Given the description of an element on the screen output the (x, y) to click on. 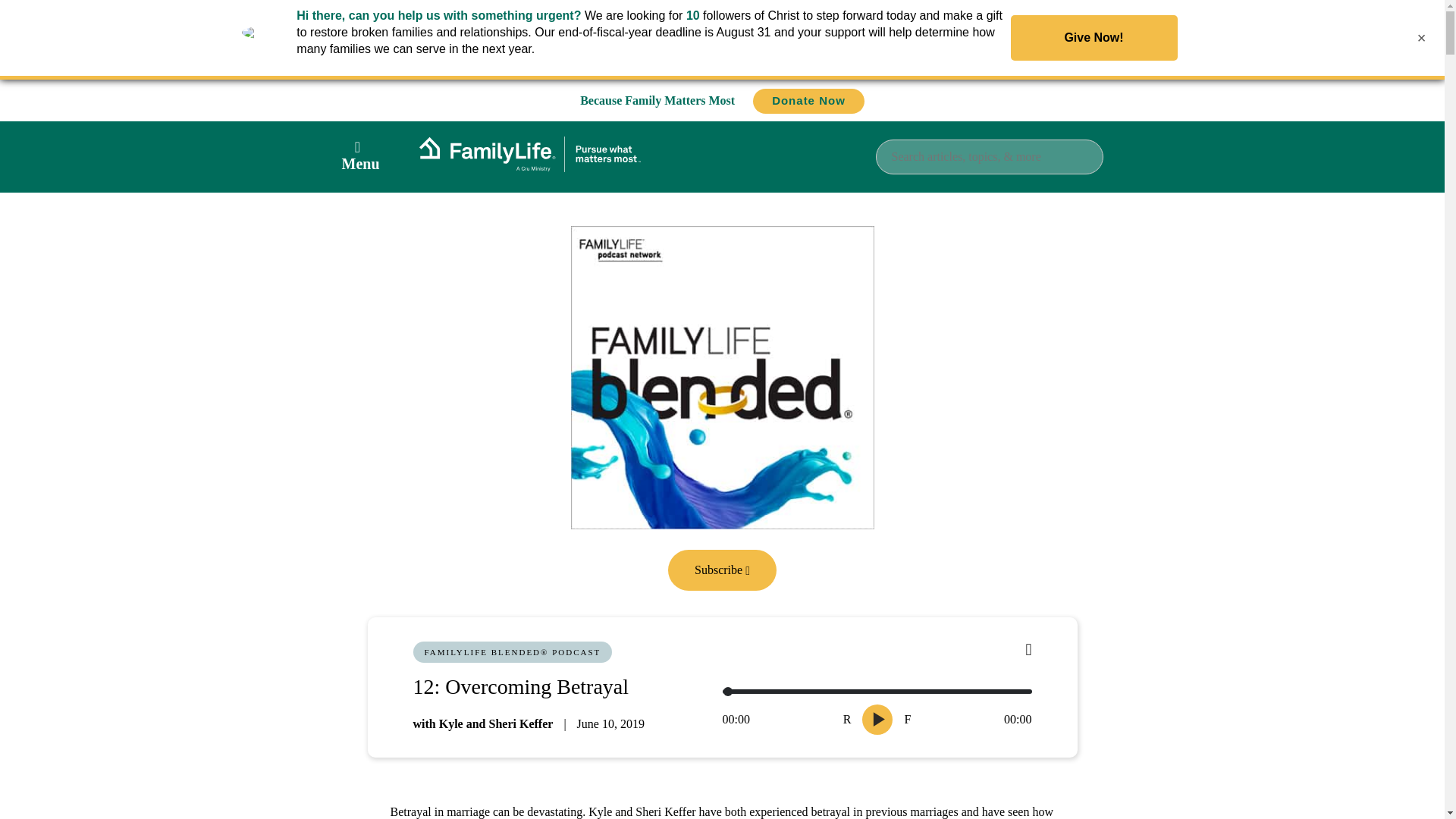
Search for: (988, 156)
Donate Now (808, 100)
Subscribe (722, 568)
Because Family Matters Most Donate Now (721, 100)
0 (876, 691)
Give Now! (1093, 37)
